Given the description of an element on the screen output the (x, y) to click on. 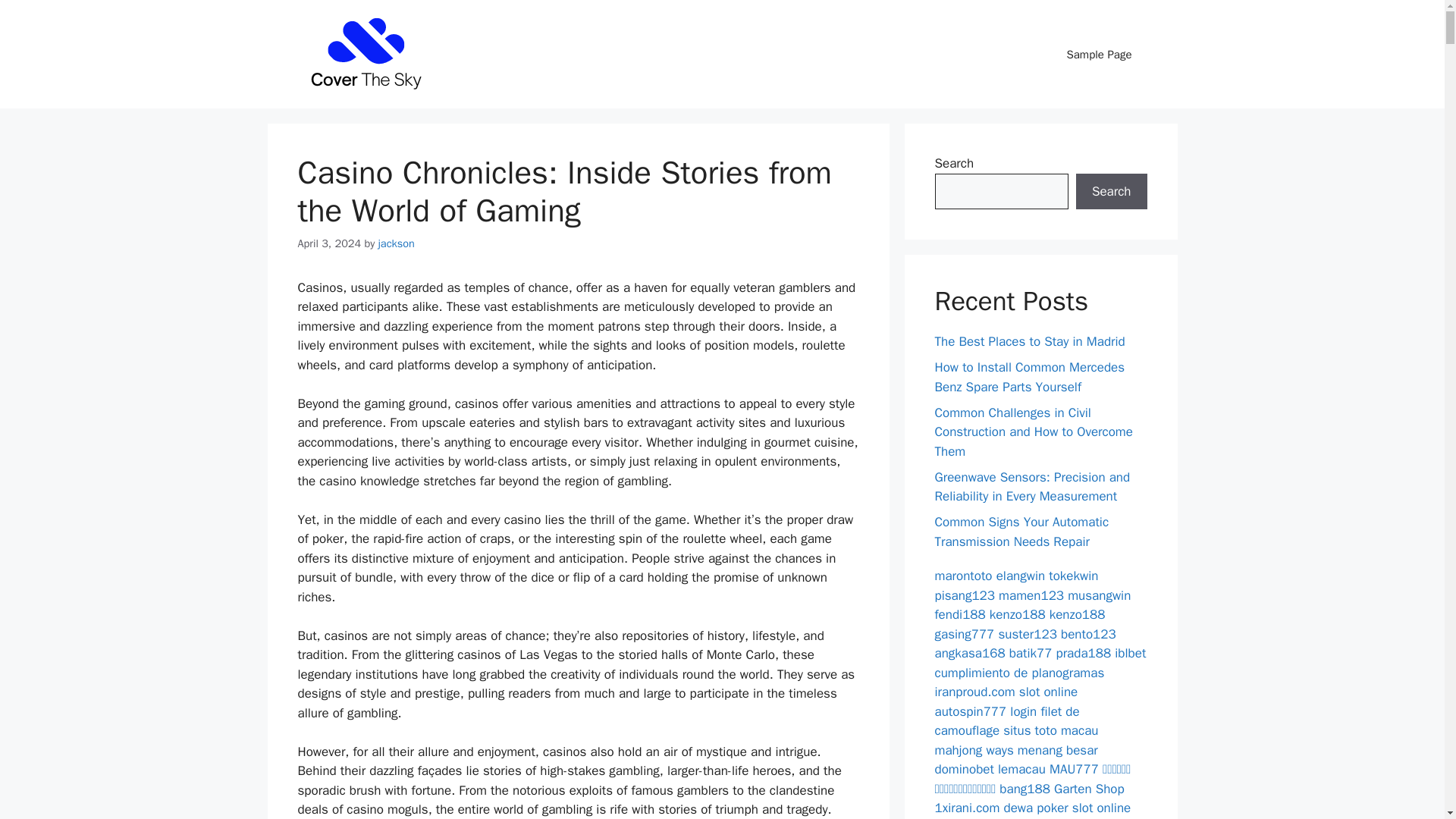
fendi188 (959, 614)
View all posts by jackson (396, 243)
Search (1111, 190)
gasing777 (964, 634)
prada188 (1084, 652)
bento123 (1088, 634)
kenzo188 (1077, 614)
cumplimiento de planogramas (1018, 672)
kenzo188 (1017, 614)
iranproud.com (974, 691)
autospin777 login (985, 711)
The Best Places to Stay in Madrid (1029, 341)
elangwin (1020, 575)
jackson (396, 243)
